Given the description of an element on the screen output the (x, y) to click on. 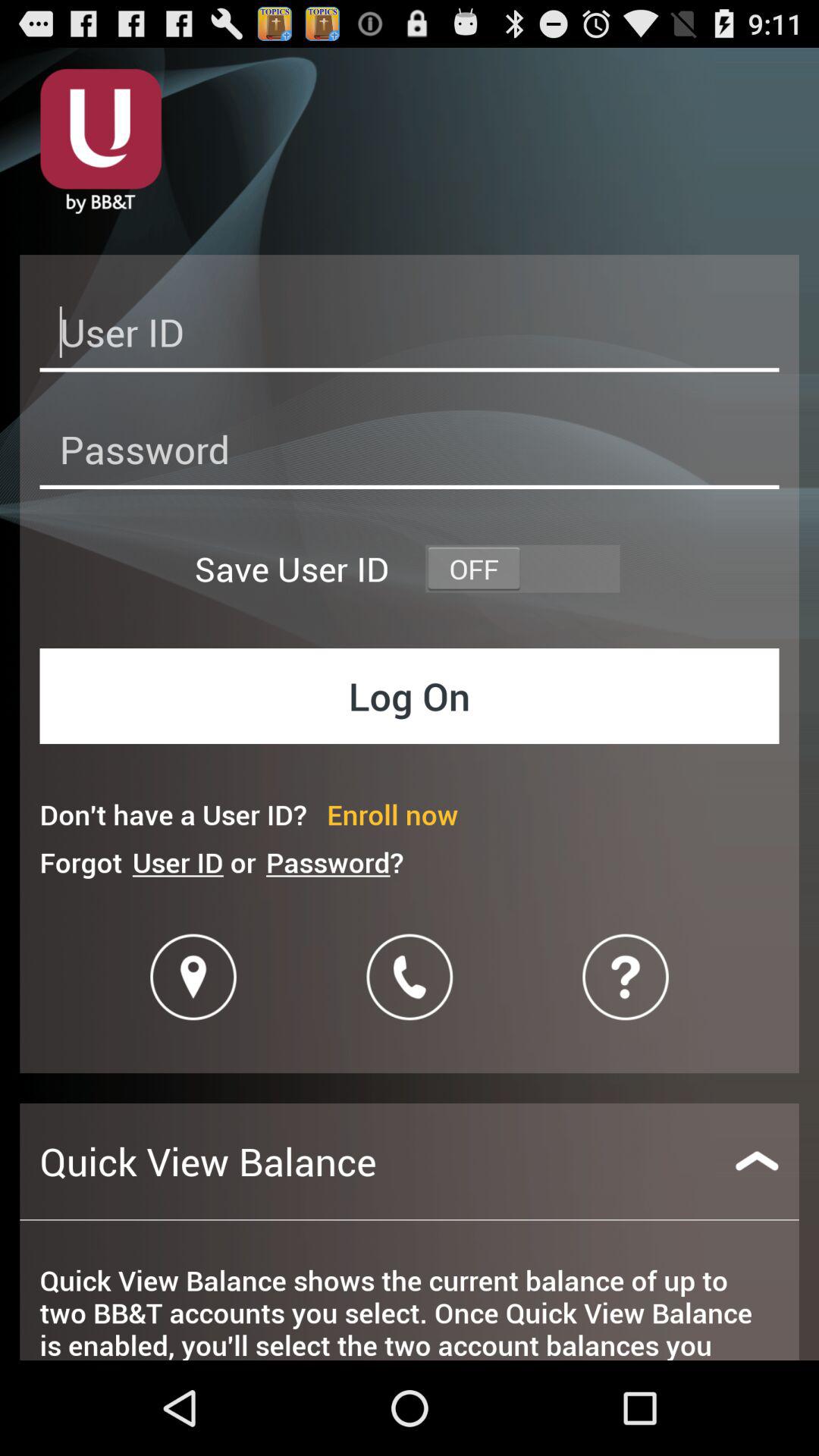
turn on icon above don t have icon (409, 695)
